Given the description of an element on the screen output the (x, y) to click on. 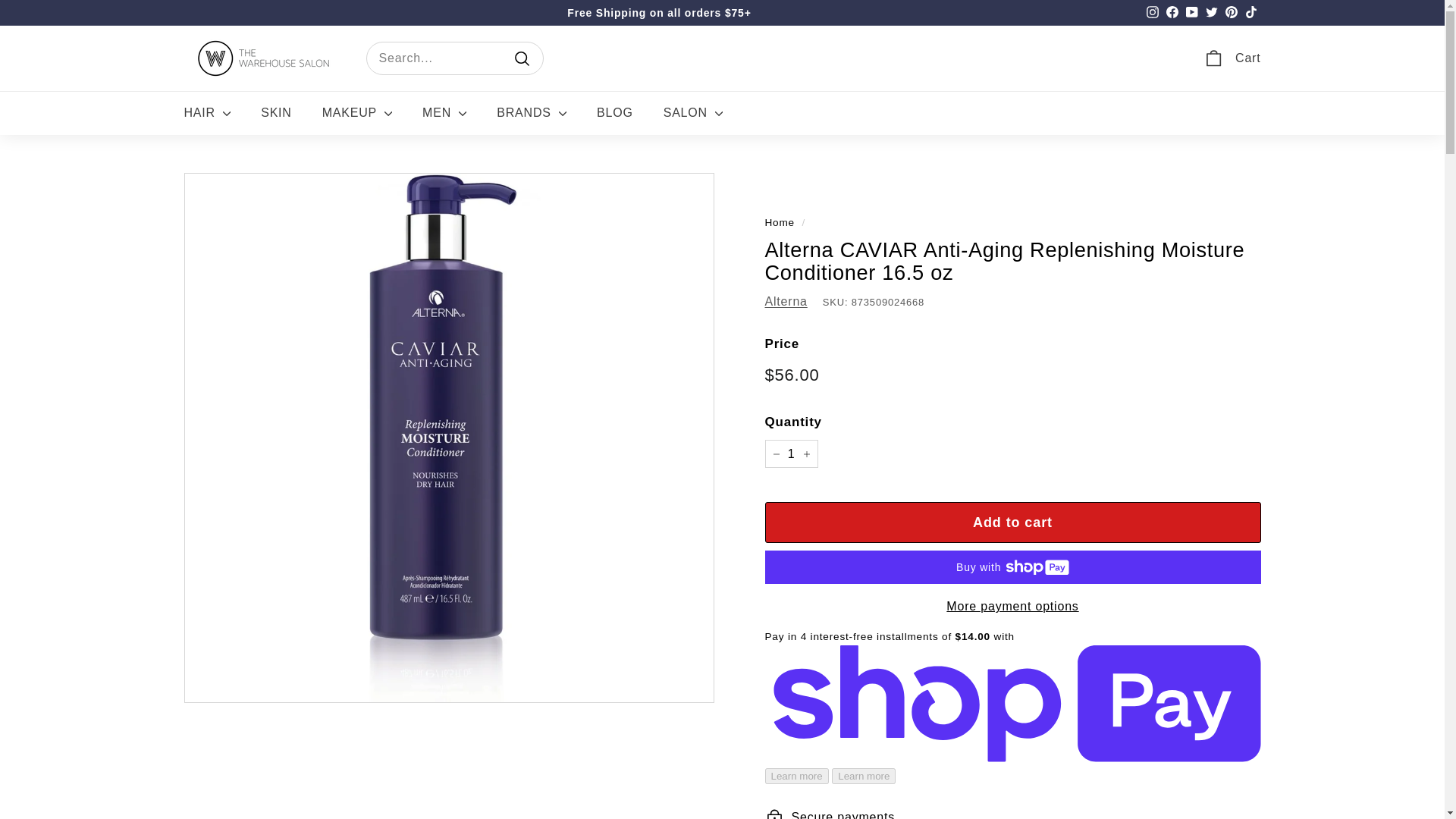
Back to the frontpage (778, 222)
twitter (1211, 11)
Cart (1231, 58)
1 (790, 453)
instagram (1152, 11)
